Given the description of an element on the screen output the (x, y) to click on. 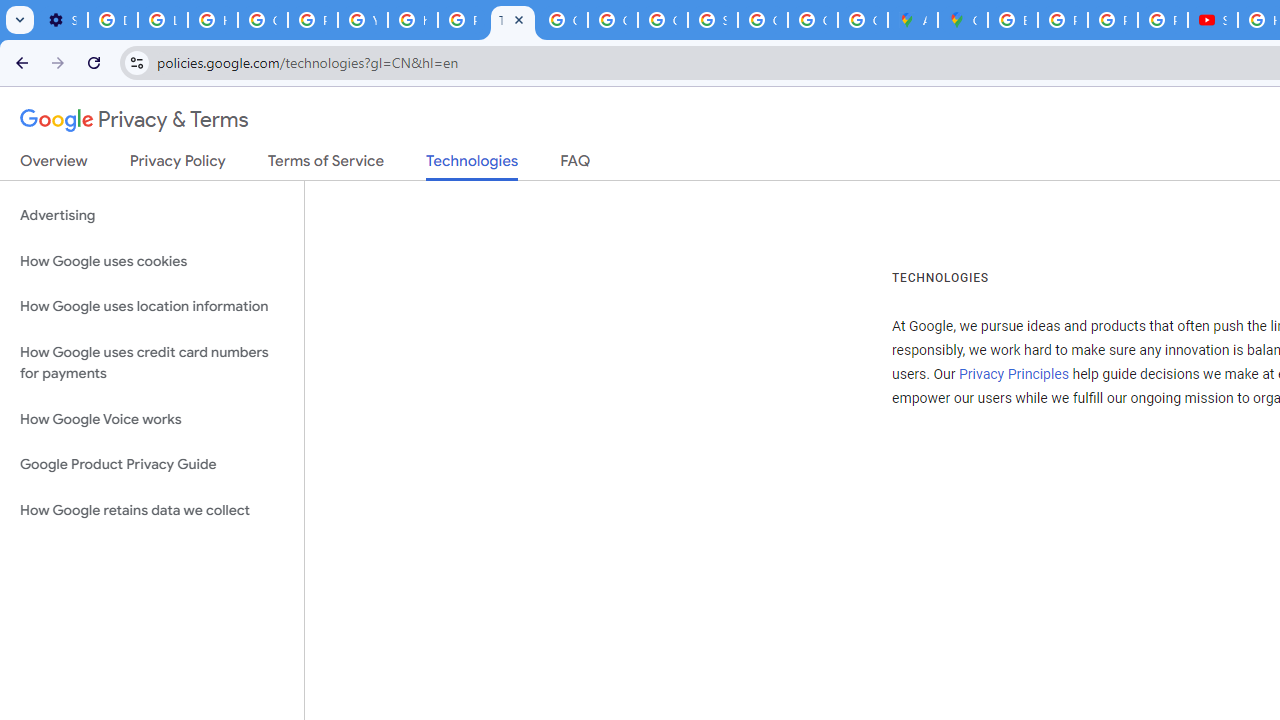
Blogger Policies and Guidelines - Transparency Center (1013, 20)
How Google uses cookies (152, 261)
Google Product Privacy Guide (152, 465)
How Google uses credit card numbers for payments (152, 362)
How Google Voice works (152, 419)
Subscriptions - YouTube (1212, 20)
